Given the description of an element on the screen output the (x, y) to click on. 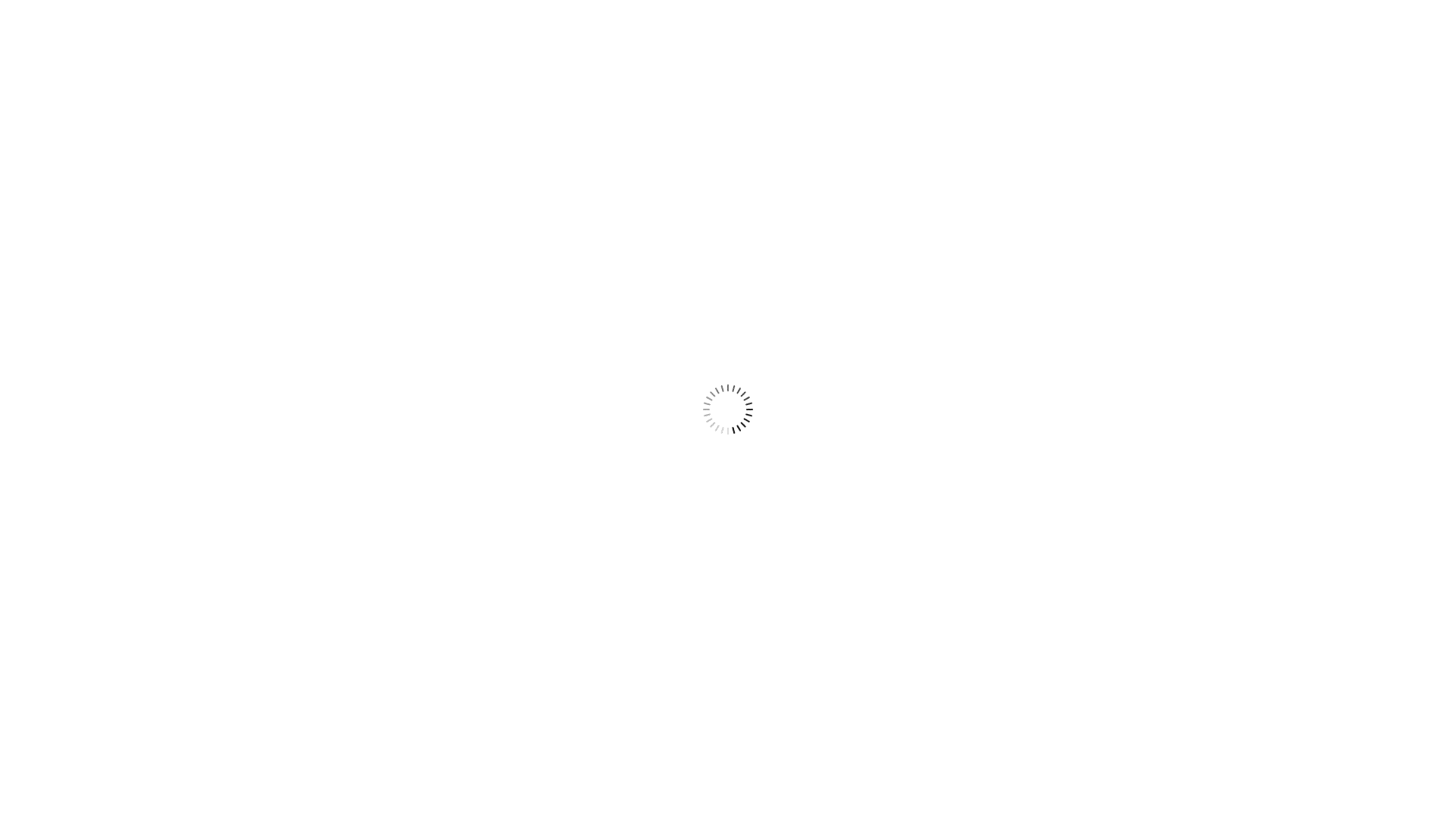
ABOUT Element type: text (574, 8)
CONTACT Element type: text (991, 8)
FEES Element type: text (675, 8)
HOME Element type: text (469, 8)
LINKS & DOWNLOADS Element type: text (825, 8)
